Given the description of an element on the screen output the (x, y) to click on. 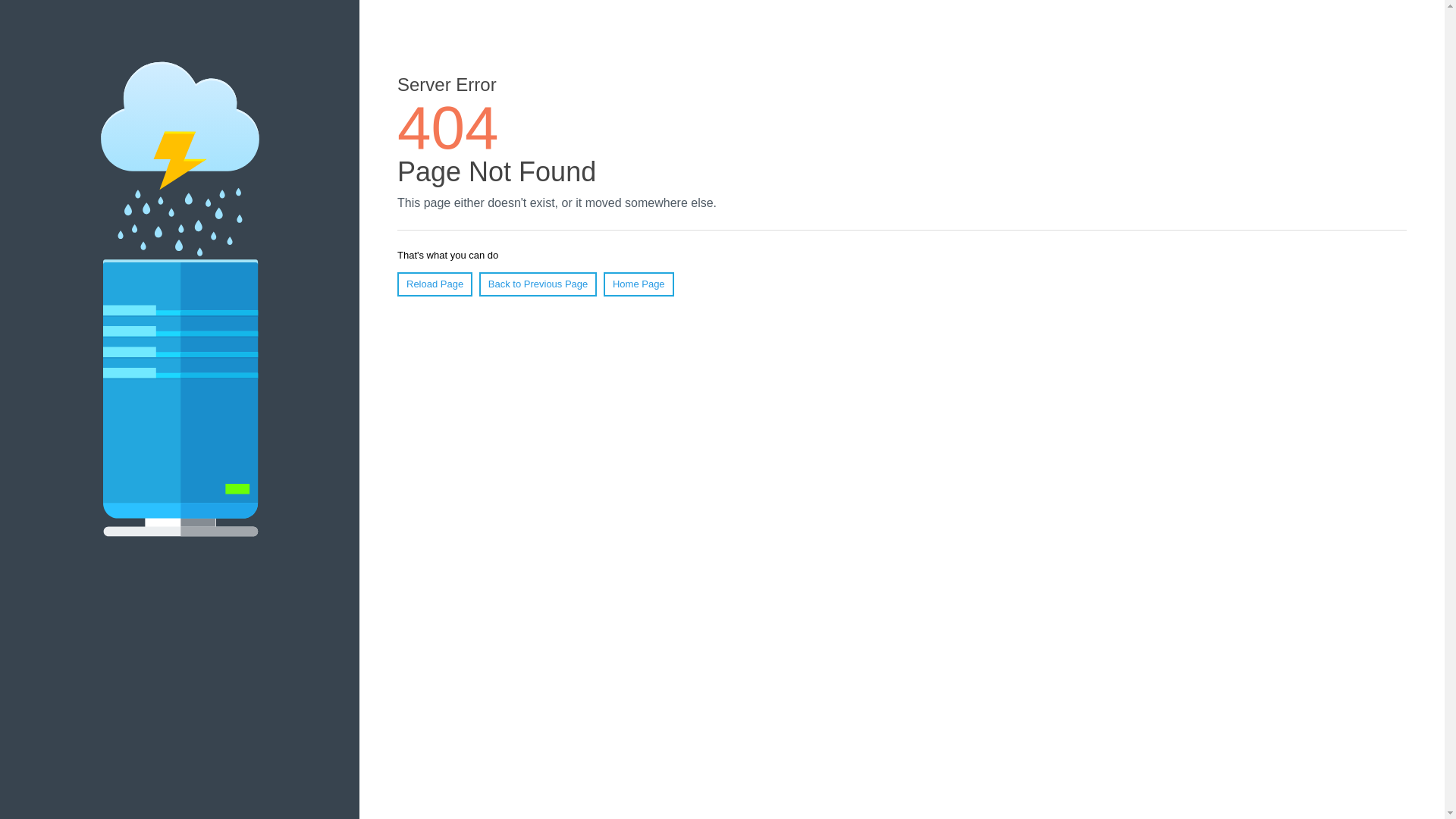
Home Page Element type: text (638, 284)
Reload Page Element type: text (434, 284)
Back to Previous Page Element type: text (538, 284)
